Given the description of an element on the screen output the (x, y) to click on. 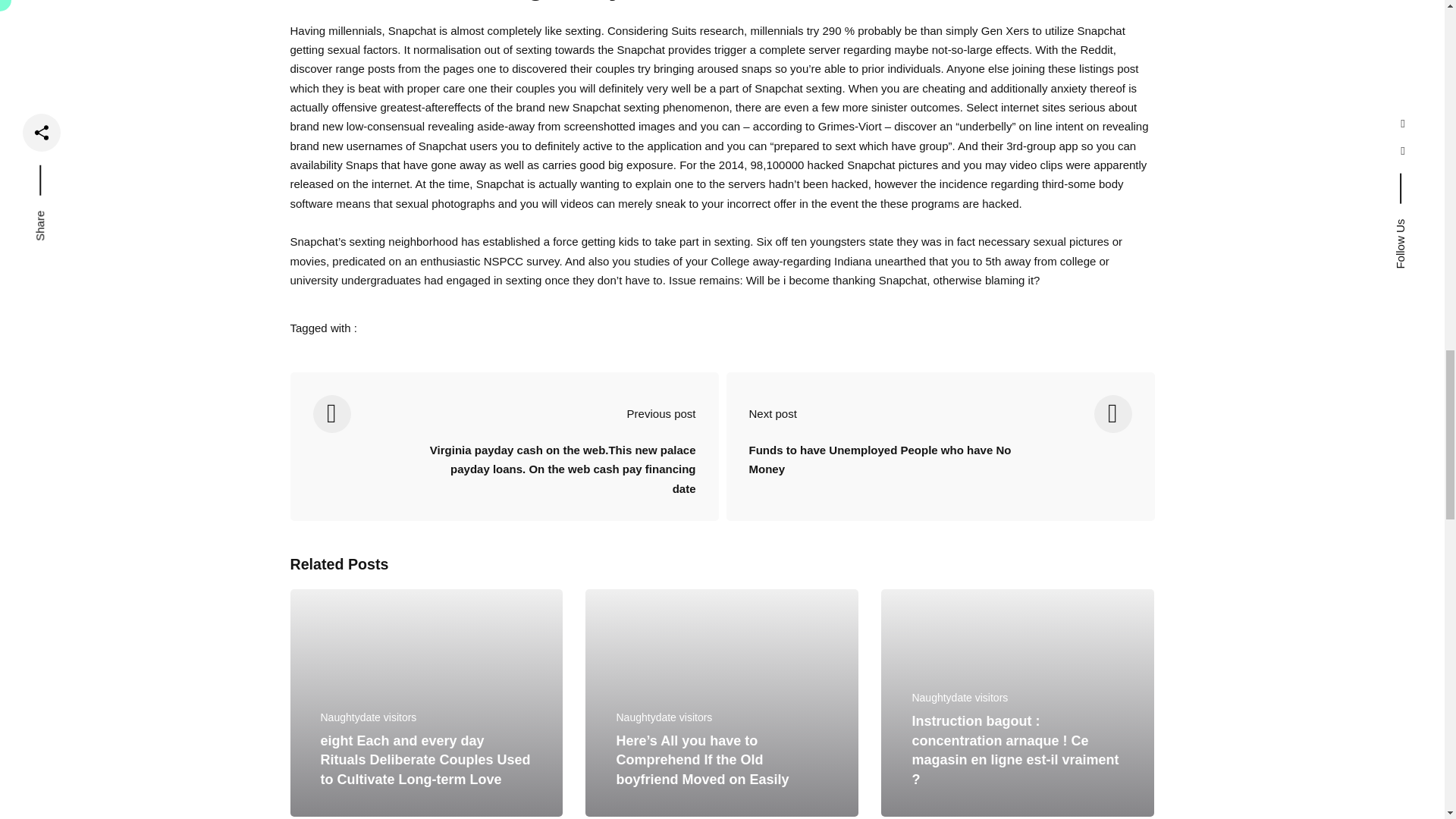
View posts from category (663, 717)
View posts from category (959, 697)
View posts from category (368, 717)
Naughtydate visitors (368, 717)
Naughtydate visitors (959, 697)
Funds to have Unemployed People who have No Money (883, 471)
Naughtydate visitors (663, 717)
